Given the description of an element on the screen output the (x, y) to click on. 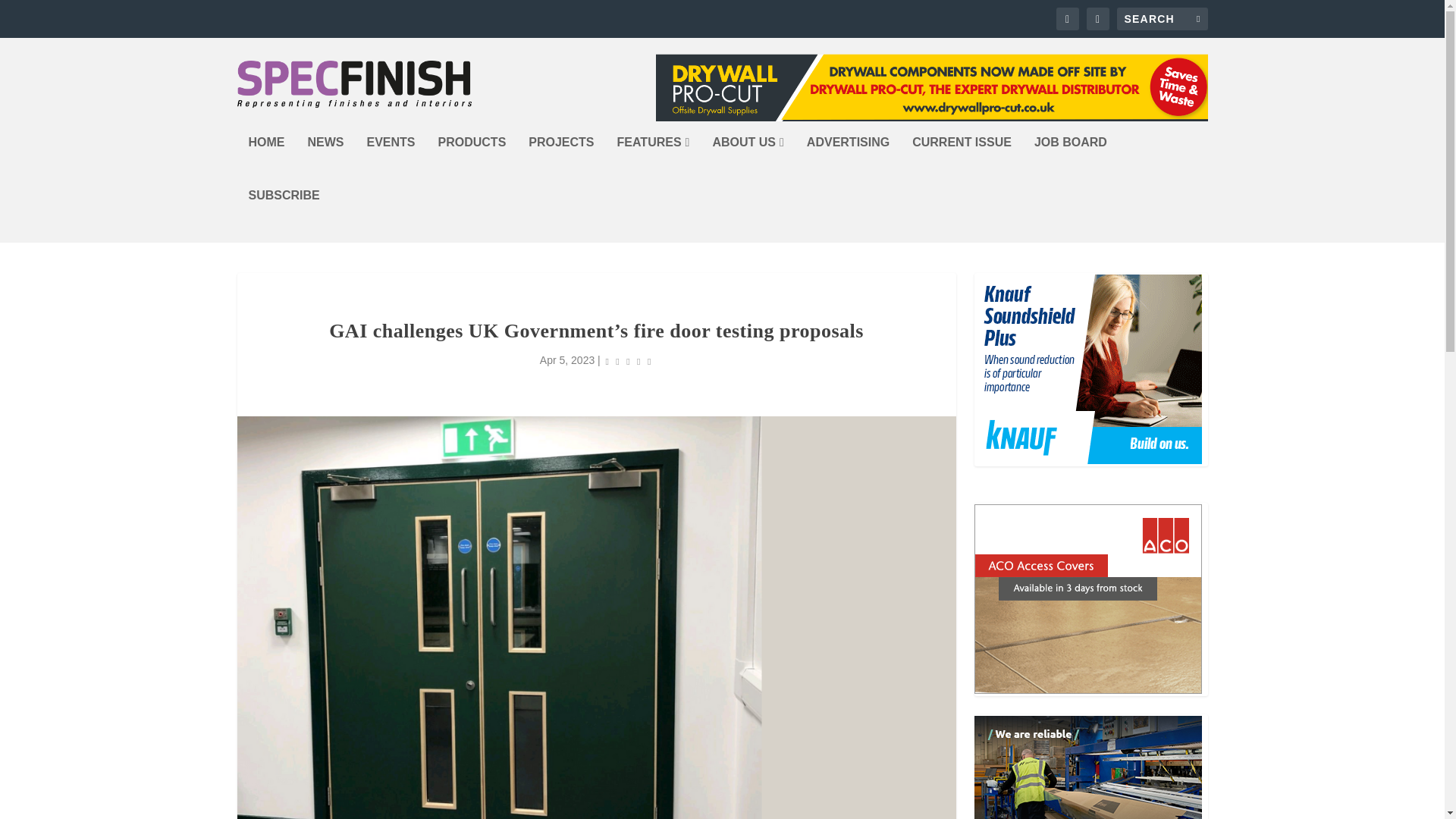
ABOUT US (747, 162)
CURRENT ISSUE (961, 162)
SUBSCRIBE (284, 215)
Rating: 5.00 (628, 361)
Search for: (1161, 18)
JOB BOARD (1069, 162)
PRODUCTS (472, 162)
EVENTS (390, 162)
FEATURES (653, 162)
PROJECTS (561, 162)
ADVERTISING (847, 162)
